Given the description of an element on the screen output the (x, y) to click on. 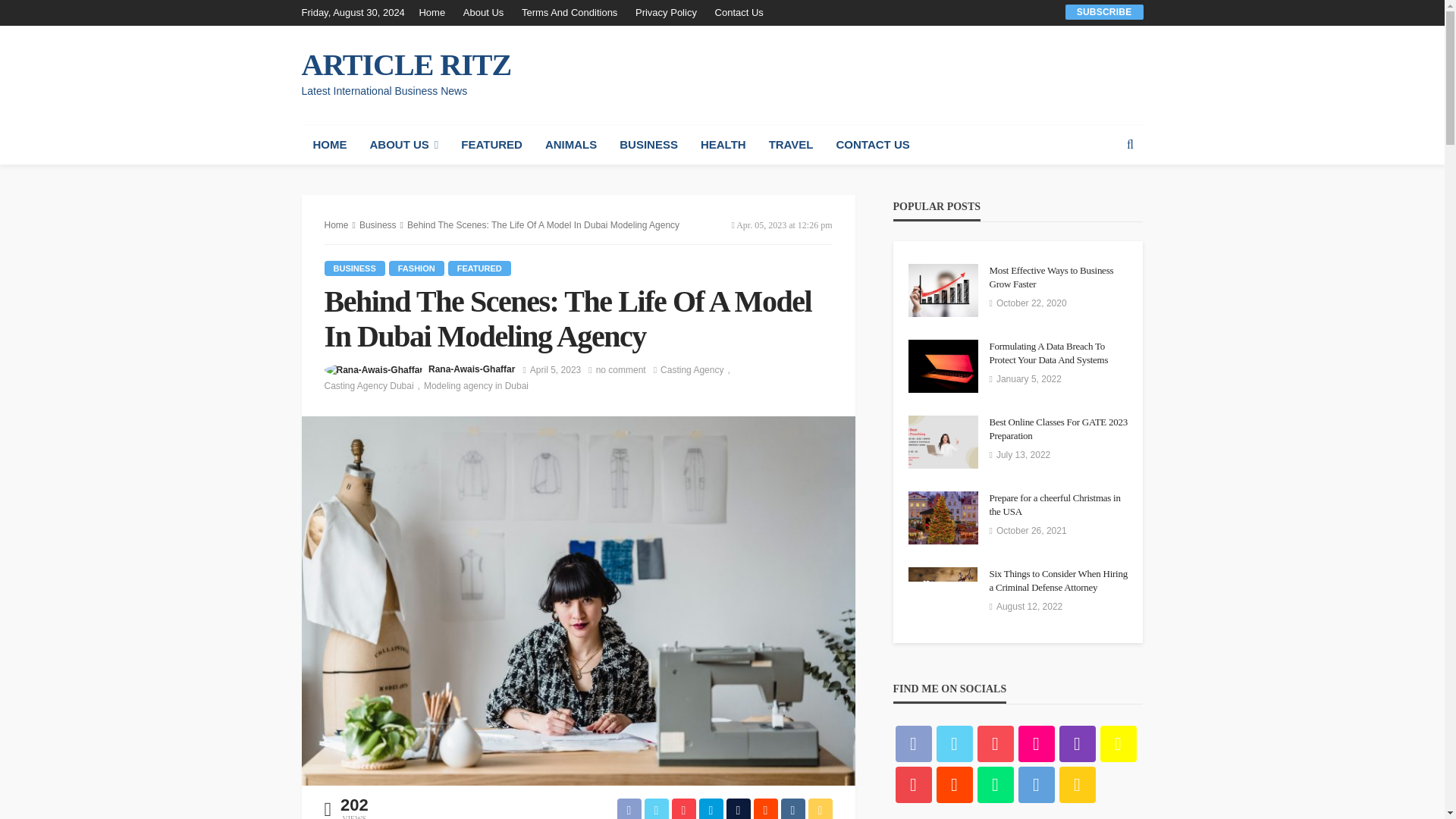
Casting Agency Dubai (373, 385)
About Us (483, 12)
Home (435, 12)
SUBSCRIBE (1103, 11)
Terms And Conditions (568, 12)
Contact Us (739, 12)
subscribe (1103, 11)
Casting Agency (697, 369)
Featured (479, 268)
Business (354, 268)
